Given the description of an element on the screen output the (x, y) to click on. 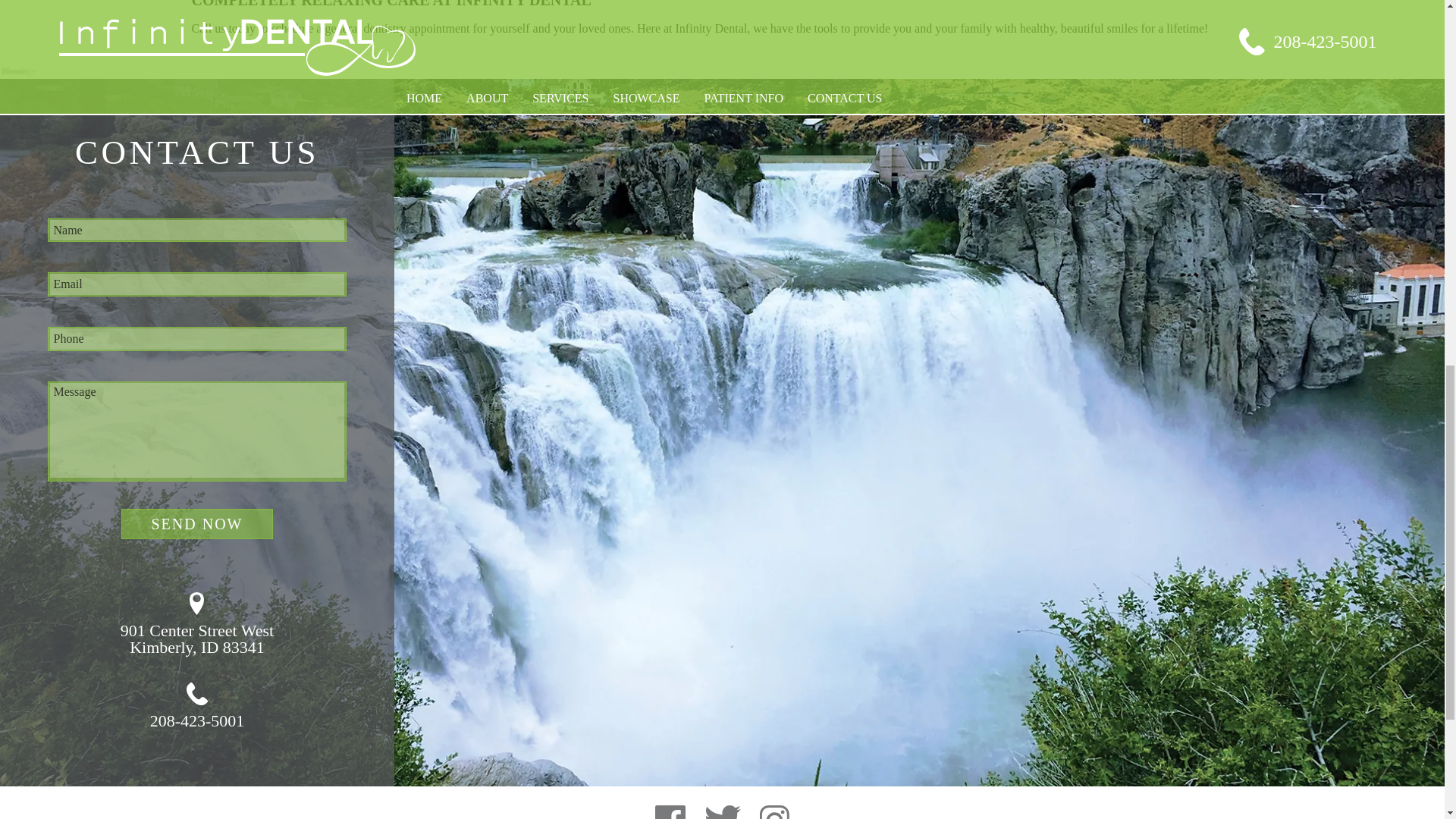
Send Now (197, 624)
Send Now (196, 523)
208-423-5001 (196, 523)
